Given the description of an element on the screen output the (x, y) to click on. 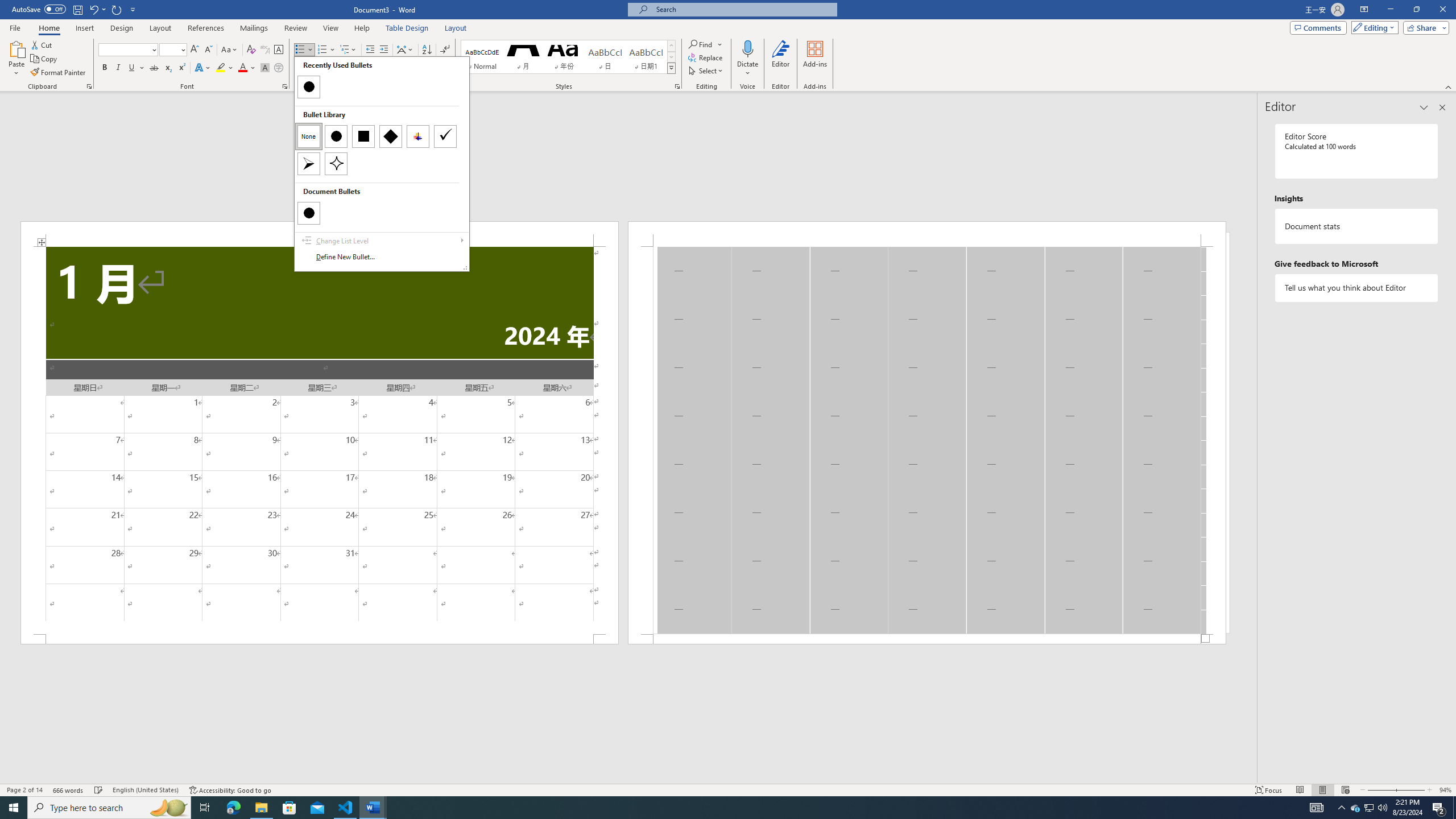
Save (77, 9)
Select (705, 69)
Document statistics (1356, 226)
Footer -Section 1- (926, 638)
Bullets (304, 49)
Numbering (326, 49)
Visual Studio Code - 1 running window (345, 807)
Page 2 content (926, 439)
Font Color RGB(255, 0, 0) (241, 67)
Bullets (300, 49)
Undo Apply Quick Style (92, 9)
Quick Access Toolbar (74, 9)
Row Down (670, 56)
Dictate (747, 58)
